Given the description of an element on the screen output the (x, y) to click on. 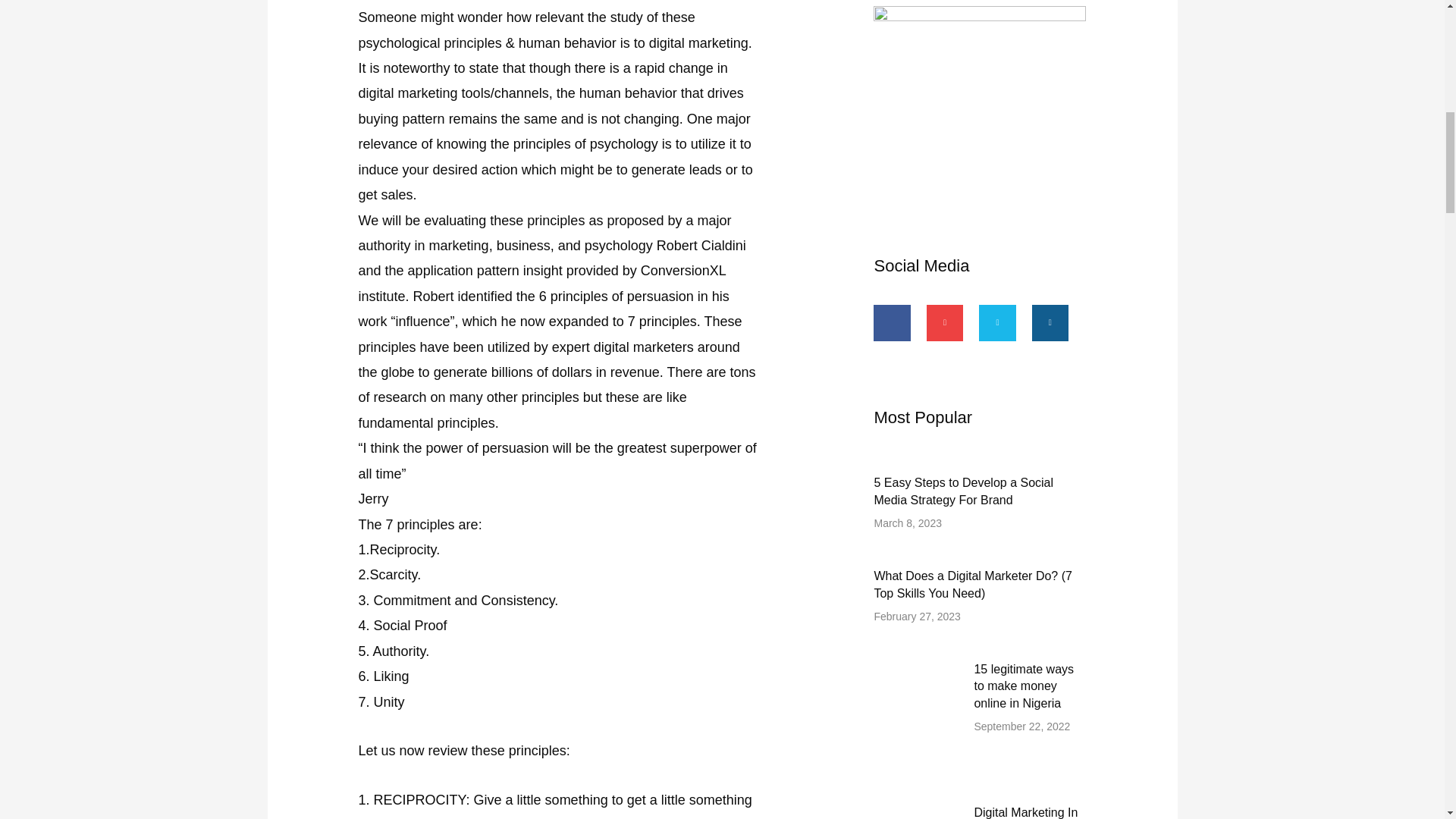
5 Easy Steps to Develop a Social Media Strategy For Brand (962, 490)
15 legitimate ways to make money online in Nigeria (1024, 686)
